Given the description of an element on the screen output the (x, y) to click on. 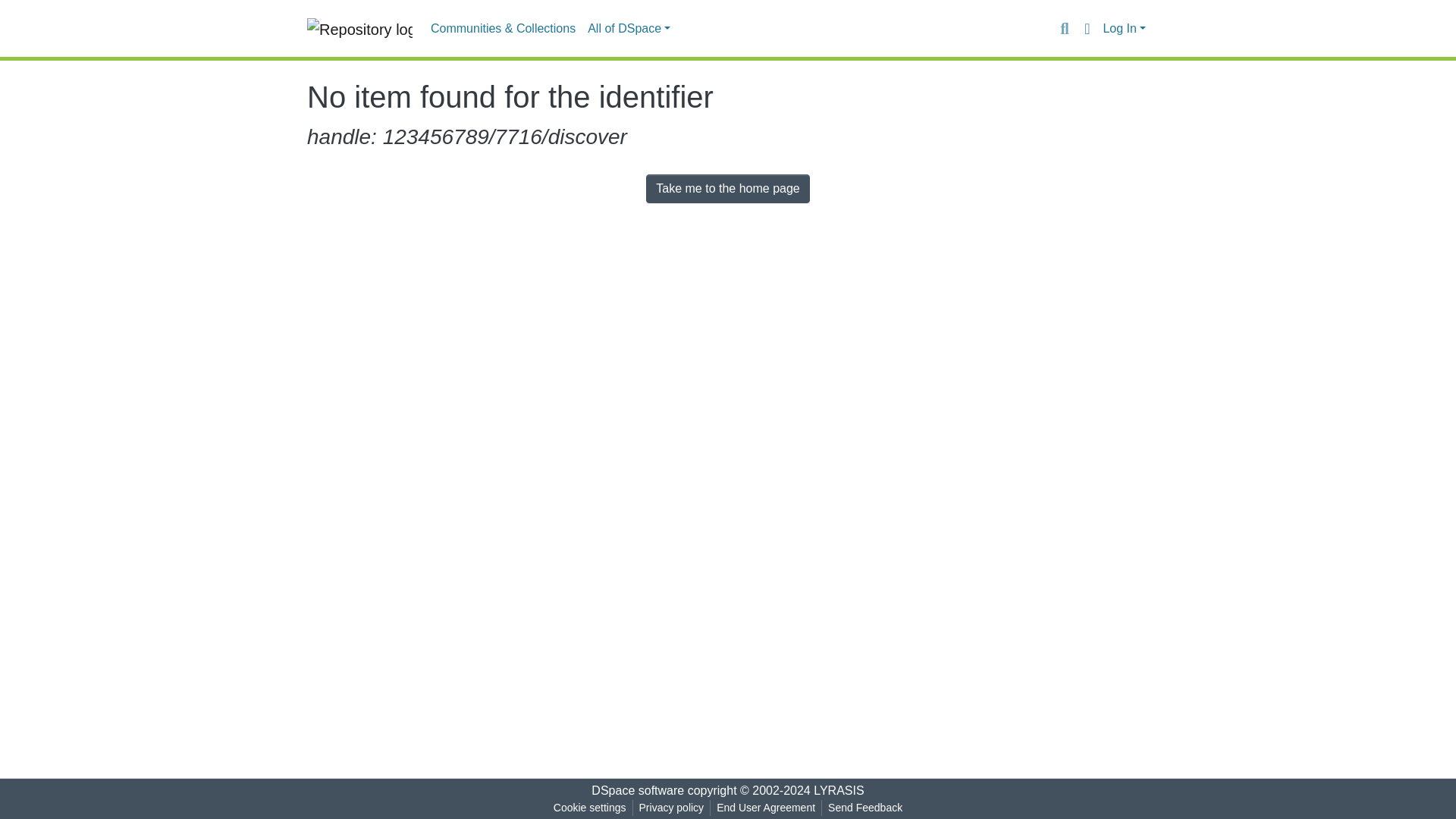
Search (1064, 28)
End User Agreement (765, 807)
Language switch (1086, 28)
Take me to the home page (727, 188)
Send Feedback (865, 807)
Cookie settings (589, 807)
Privacy policy (671, 807)
All of DSpace (628, 28)
Log In (1123, 28)
DSpace software (637, 789)
LYRASIS (838, 789)
